Given the description of an element on the screen output the (x, y) to click on. 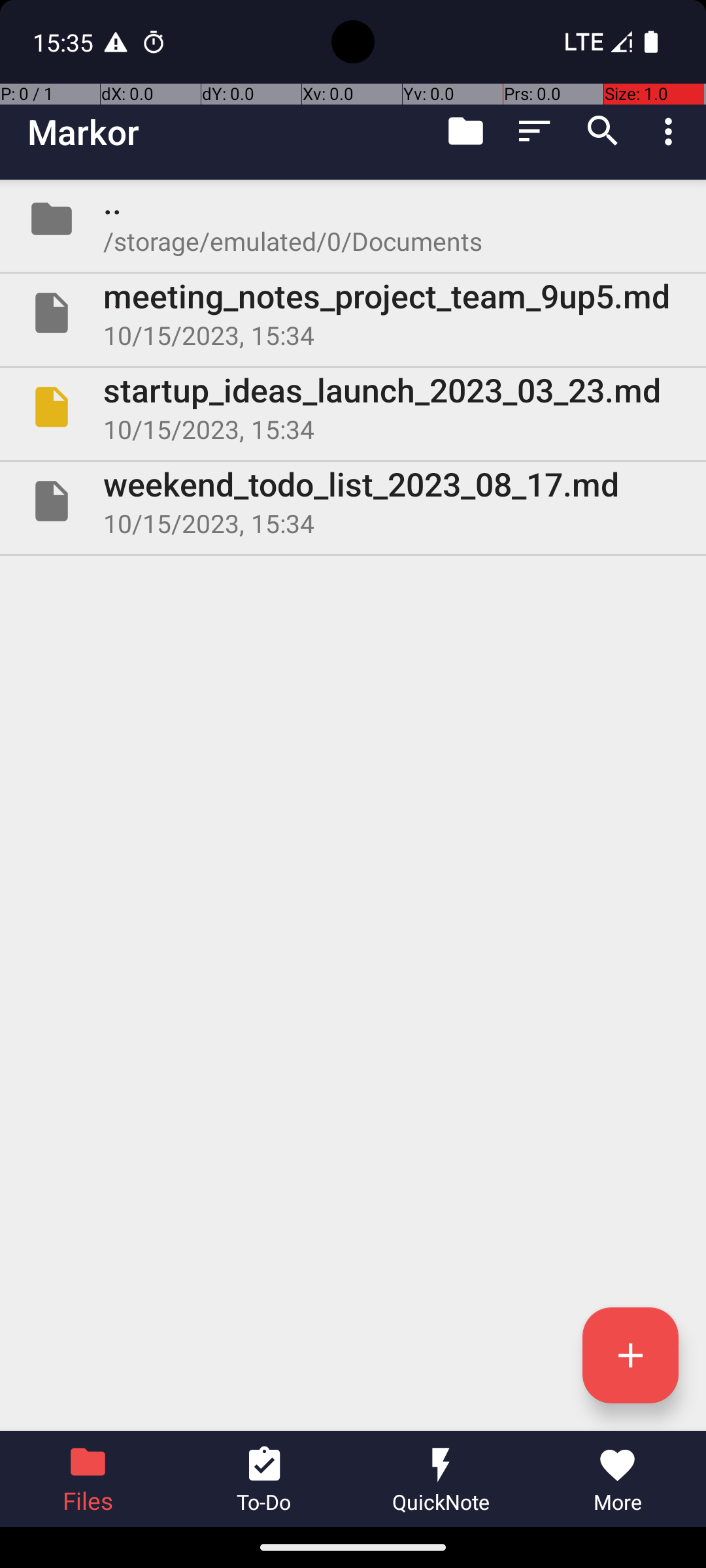
Create a new file or folder Element type: android.widget.ImageButton (630, 1355)
Markor Element type: android.widget.TextView (83, 131)
Go to Element type: android.widget.TextView (465, 131)
Sort by Element type: android.widget.TextView (534, 131)
Files Element type: android.widget.FrameLayout (88, 1478)
To-Do Element type: android.widget.FrameLayout (264, 1478)
QuickNote Element type: android.widget.FrameLayout (441, 1478)
More Element type: android.widget.FrameLayout (617, 1478)
Folder .. /storage Element type: android.widget.LinearLayout (353, 218)
File meeting_notes_project_team_9up5.md 9/10/2024, 03:57 Element type: android.widget.LinearLayout (353, 312)
File startup_ideas_launch_2023_03_23.md 10/15/2023, 15:34 Element type: android.widget.LinearLayout (353, 406)
File weekend_todo_list_2023_08_17.md 9/9/2024, 09:25 Element type: android.widget.LinearLayout (353, 500)
15:35 Element type: android.widget.TextView (64, 41)
